Given the description of an element on the screen output the (x, y) to click on. 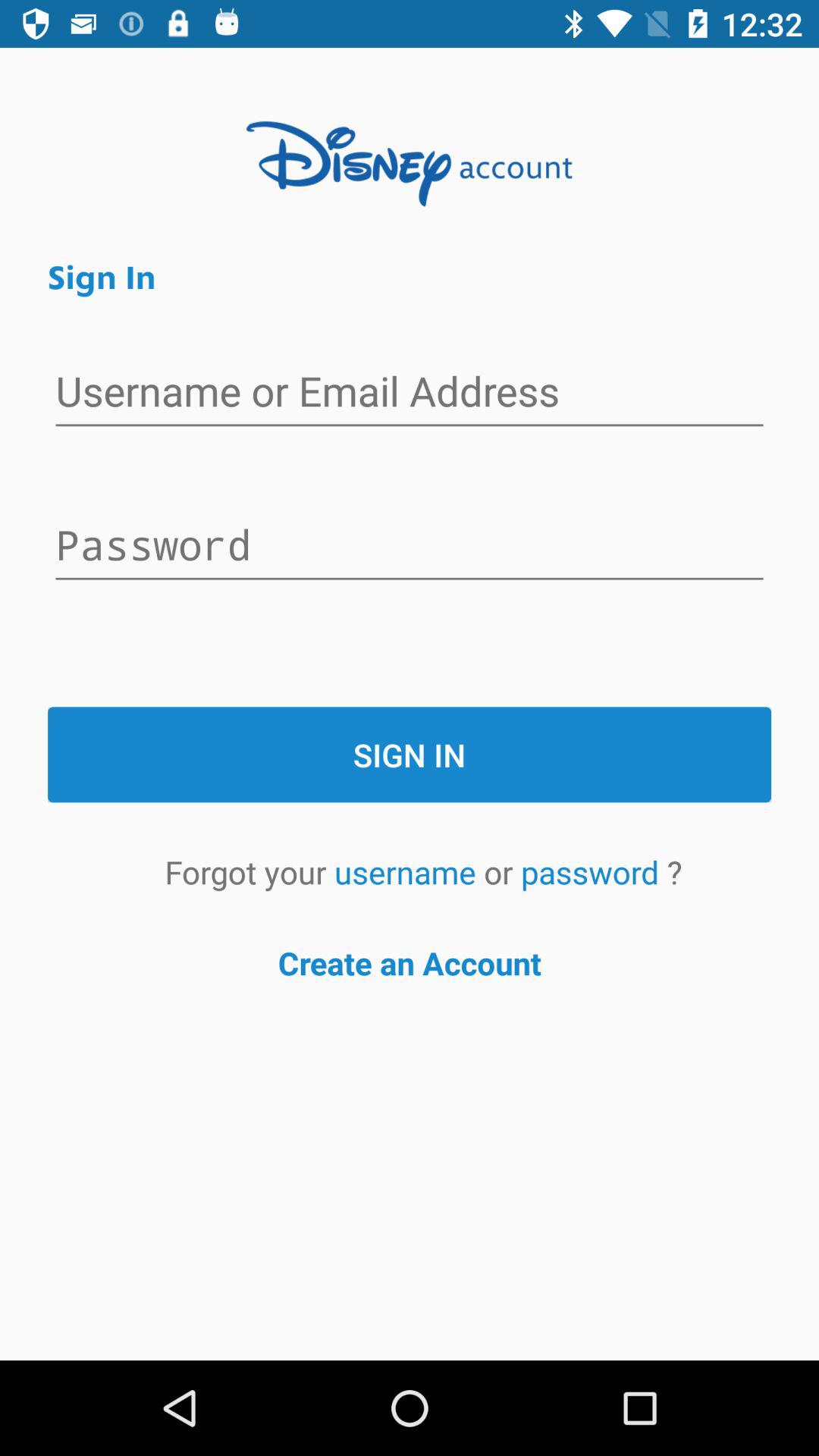
click the icon next to the forgot your  icon (409, 871)
